Given the description of an element on the screen output the (x, y) to click on. 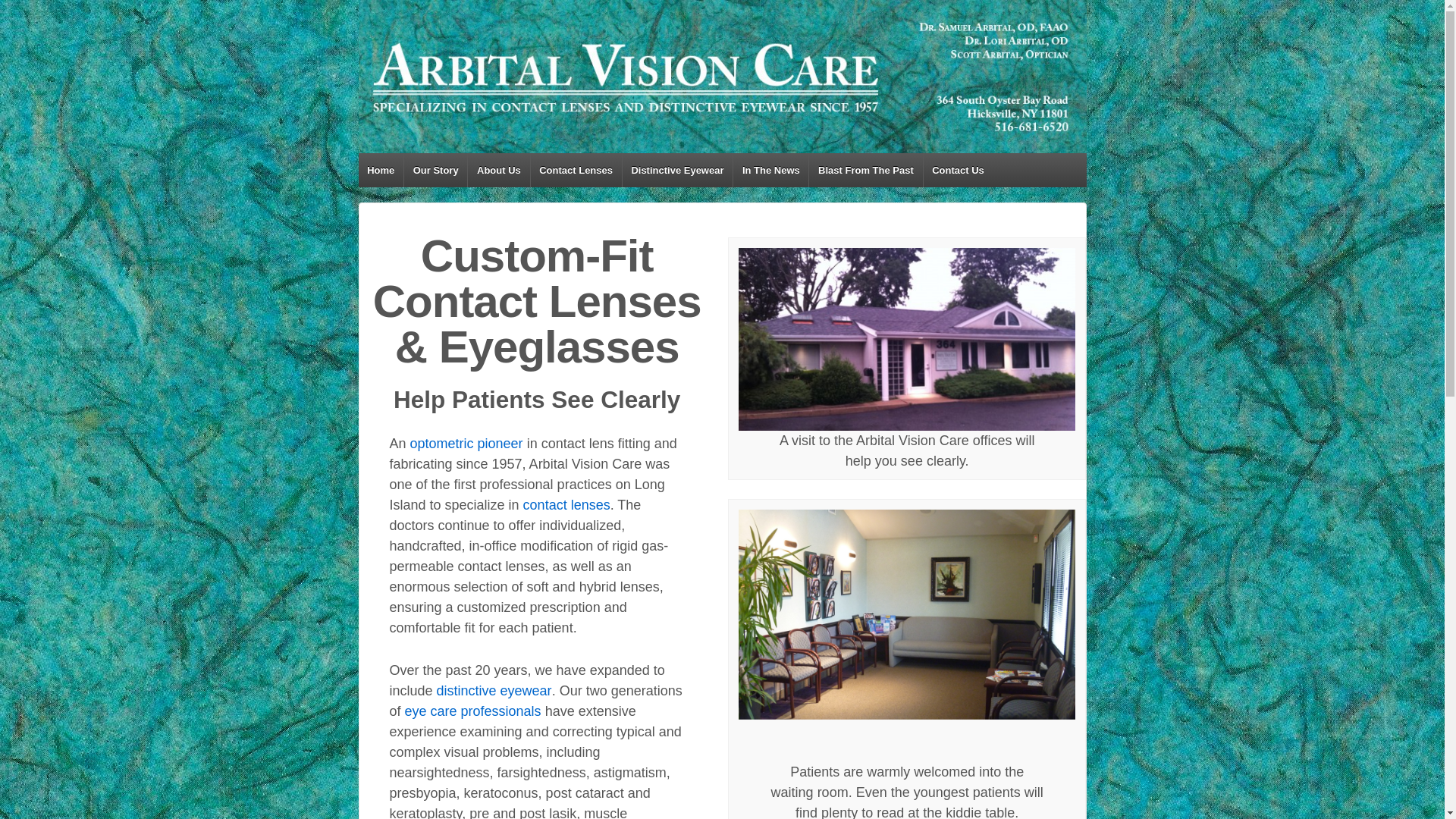
Distinctive Eyewear (677, 170)
Contact Lenses (575, 170)
Our Story (466, 443)
Distinctive Eyewear (493, 690)
About Us (474, 711)
About Us (498, 170)
In The News (770, 170)
contact lenses (566, 504)
Blast From The Past (864, 170)
Contact Lenses (566, 504)
